Given the description of an element on the screen output the (x, y) to click on. 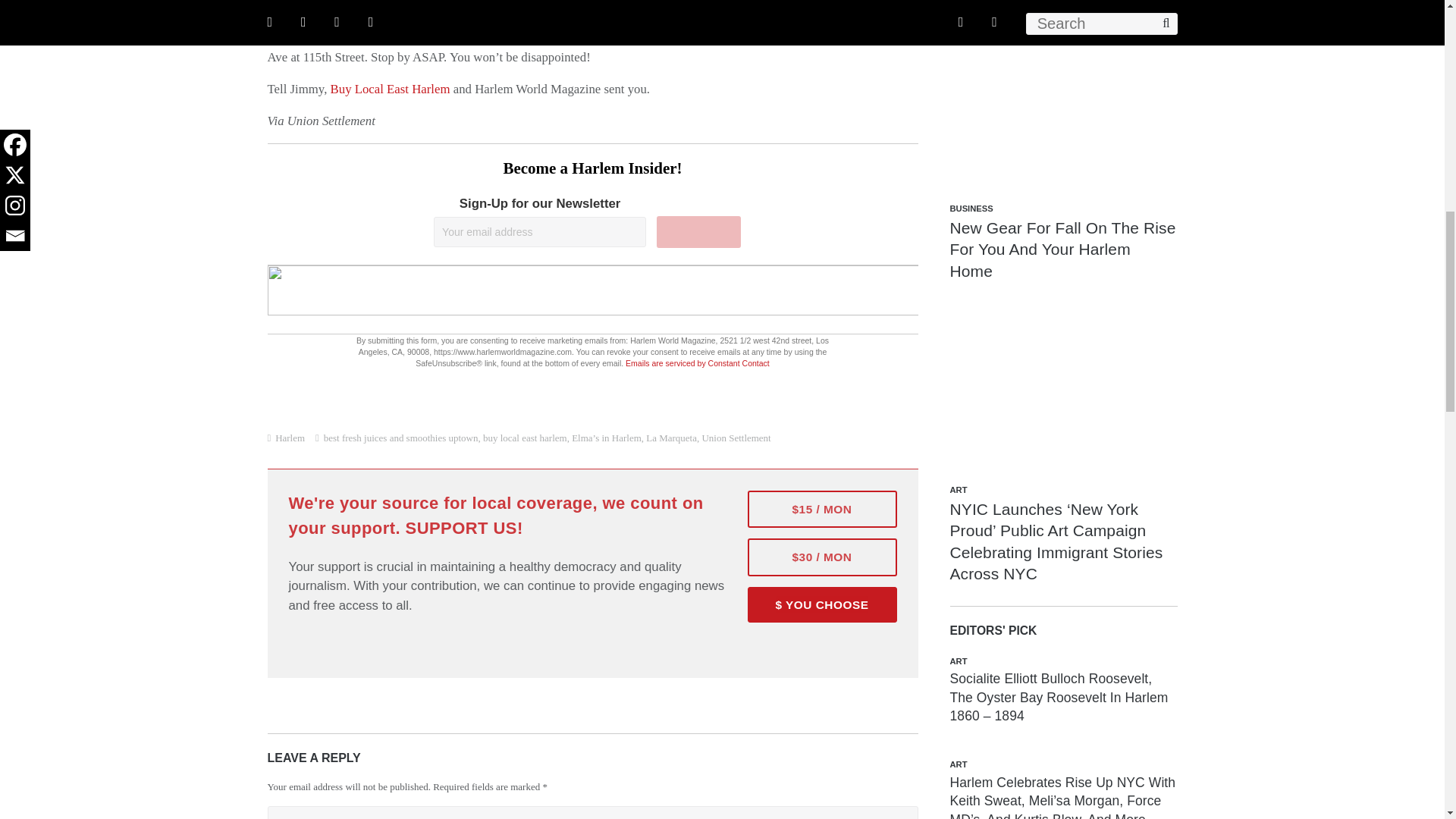
best fresh juices and smoothies uptown (401, 437)
Union Settlement (735, 437)
Harlem (289, 437)
Sign up (698, 232)
buy local east harlem (525, 437)
La Marqueta (671, 437)
La Marqueta (817, 37)
Emails are serviced by Constant Contact (698, 362)
Sign up (698, 232)
Buy Local East Harlem (389, 88)
